Given the description of an element on the screen output the (x, y) to click on. 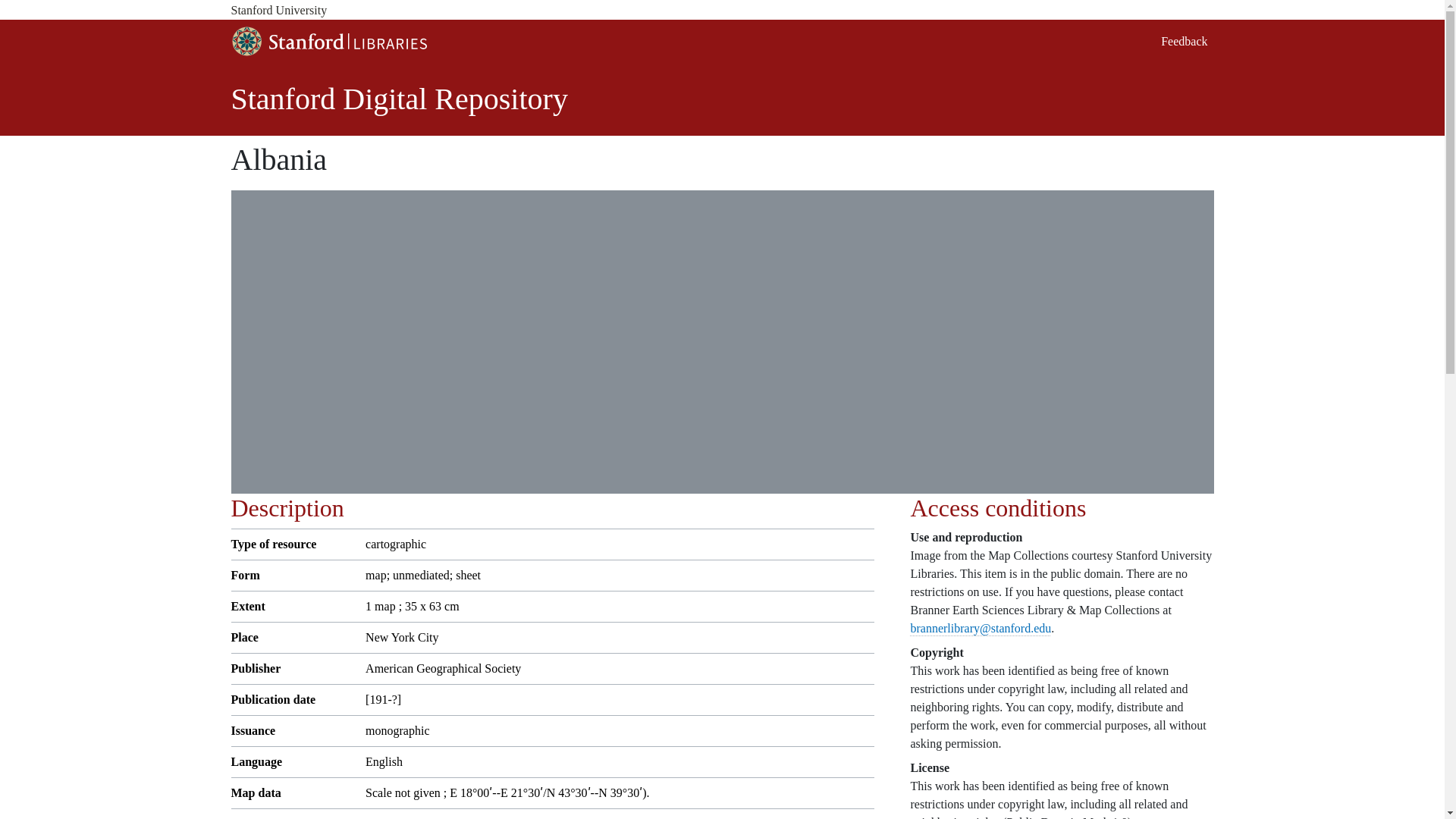
Stanford Digital Repository (398, 98)
Stanford University (721, 10)
Feedback (1183, 40)
Stanford Libraries (328, 40)
